Given the description of an element on the screen output the (x, y) to click on. 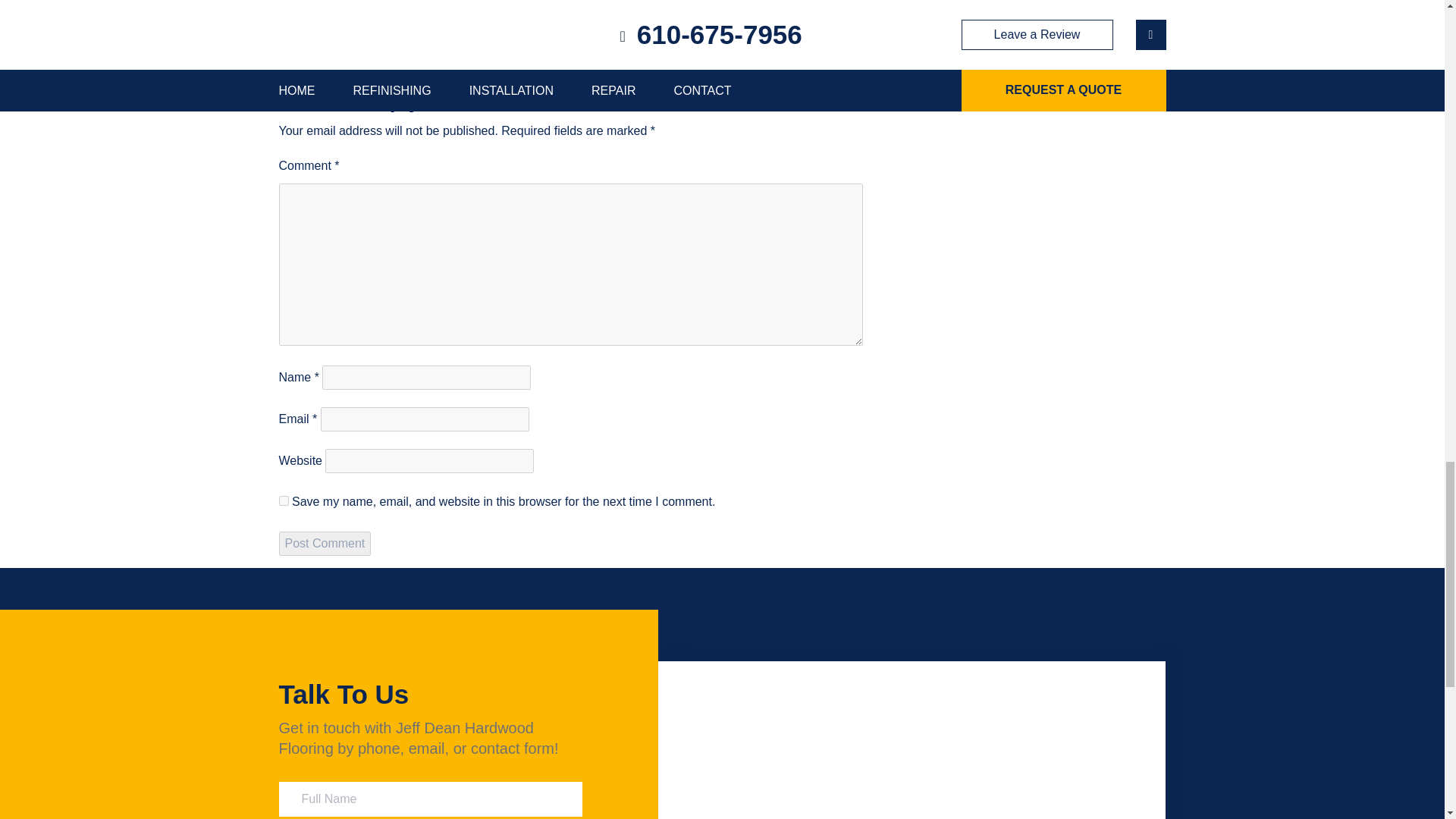
Tech In Logistics: Part 2- Exceeding Customer Expectations (403, 46)
Post Comment (325, 543)
Post Comment (325, 543)
yes (283, 501)
